Given the description of an element on the screen output the (x, y) to click on. 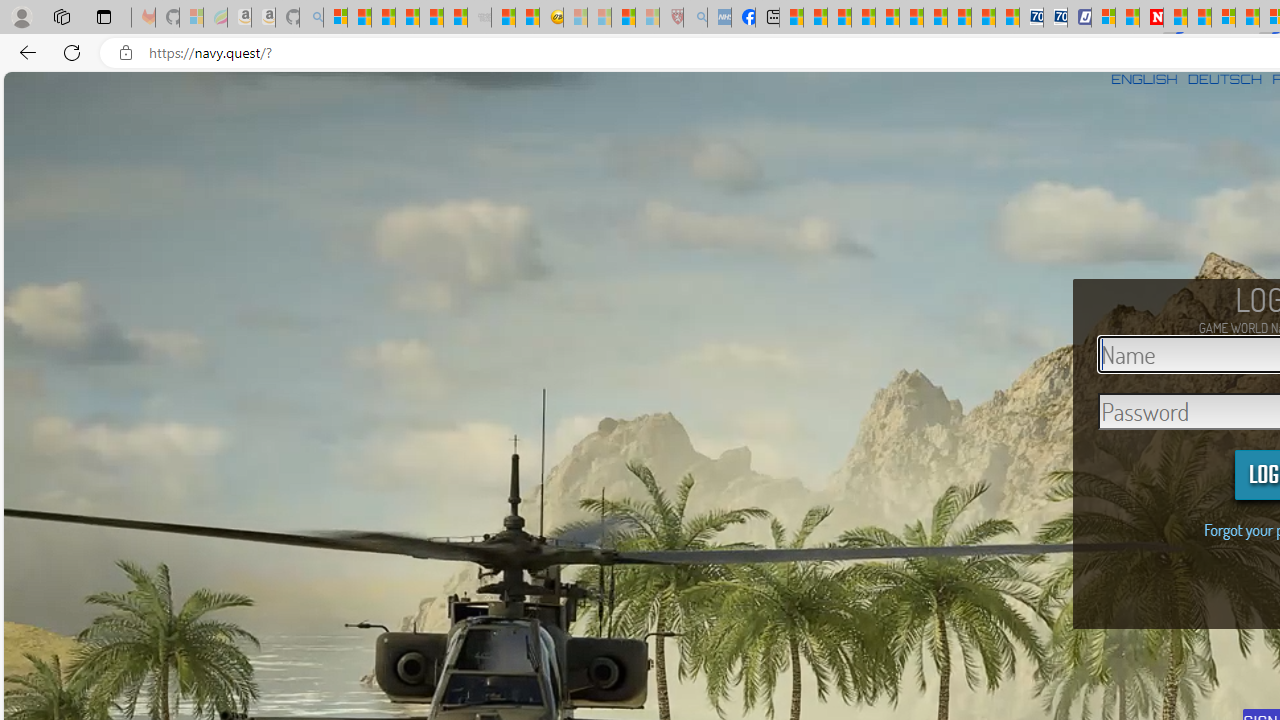
DEUTSCH (1224, 79)
New Report Confirms 2023 Was Record Hot | Watch (430, 17)
Cheap Car Rentals - Save70.com (1031, 17)
Cheap Hotels - Save70.com (1055, 17)
